Given the description of an element on the screen output the (x, y) to click on. 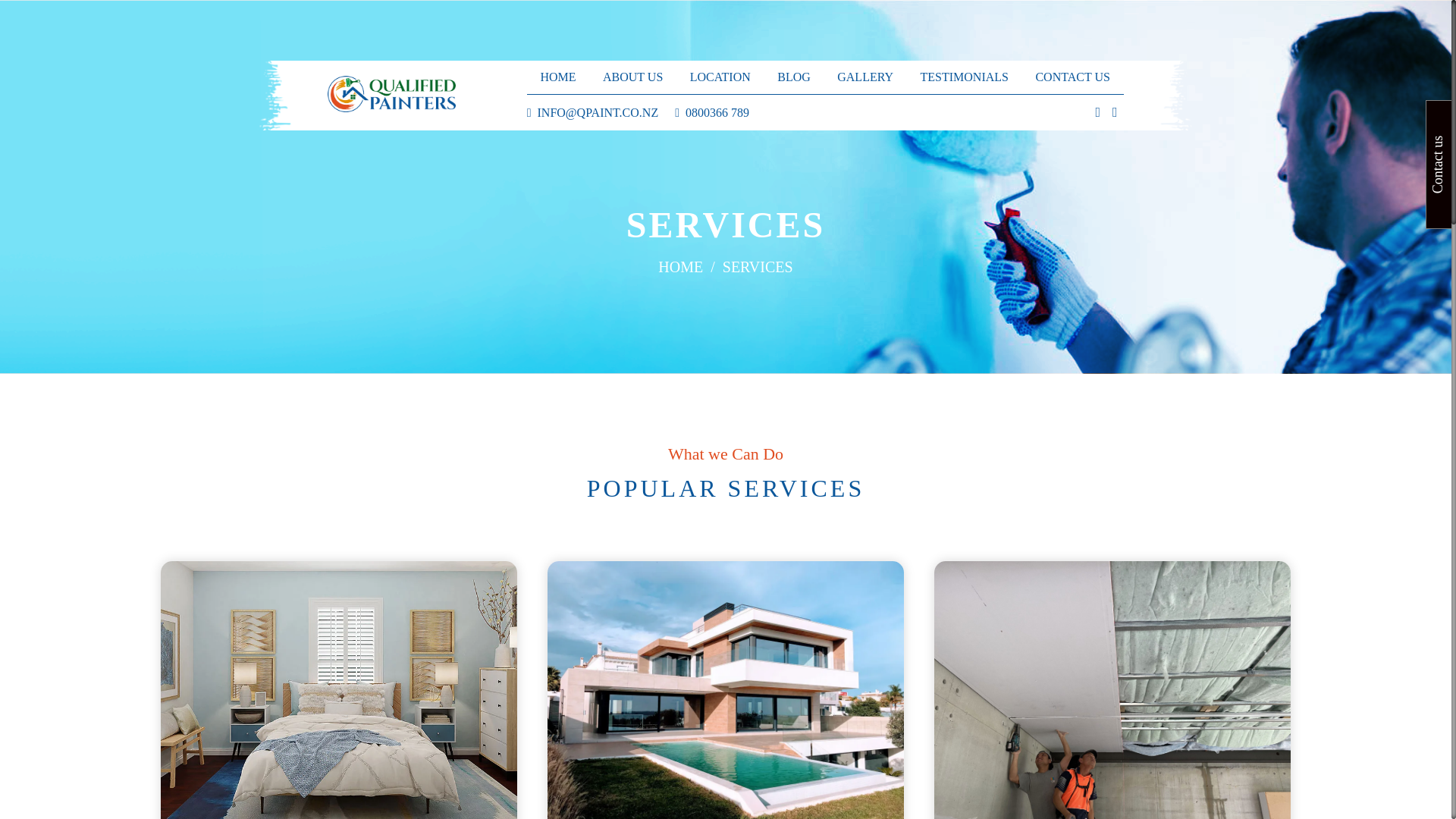
LOCATION (720, 76)
HOME (679, 265)
Go to Home. (679, 265)
ABOUT US (632, 76)
0800366 789 (717, 112)
HOME (557, 76)
TESTIMONIALS (964, 76)
GALLERY (865, 76)
CONTACT US (1072, 76)
BLOG (793, 76)
